Given the description of an element on the screen output the (x, y) to click on. 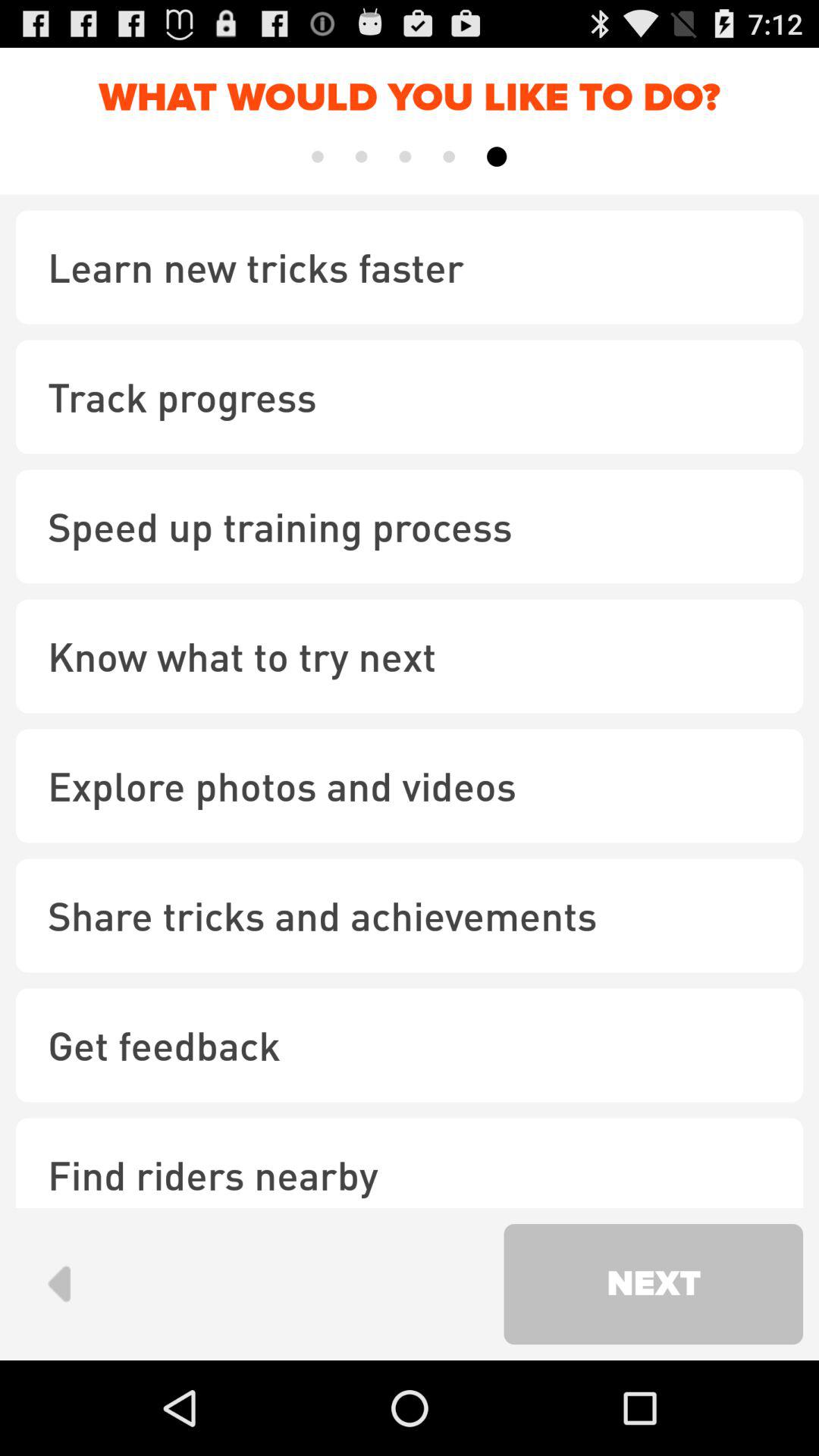
press track progress icon (409, 396)
